Given the description of an element on the screen output the (x, y) to click on. 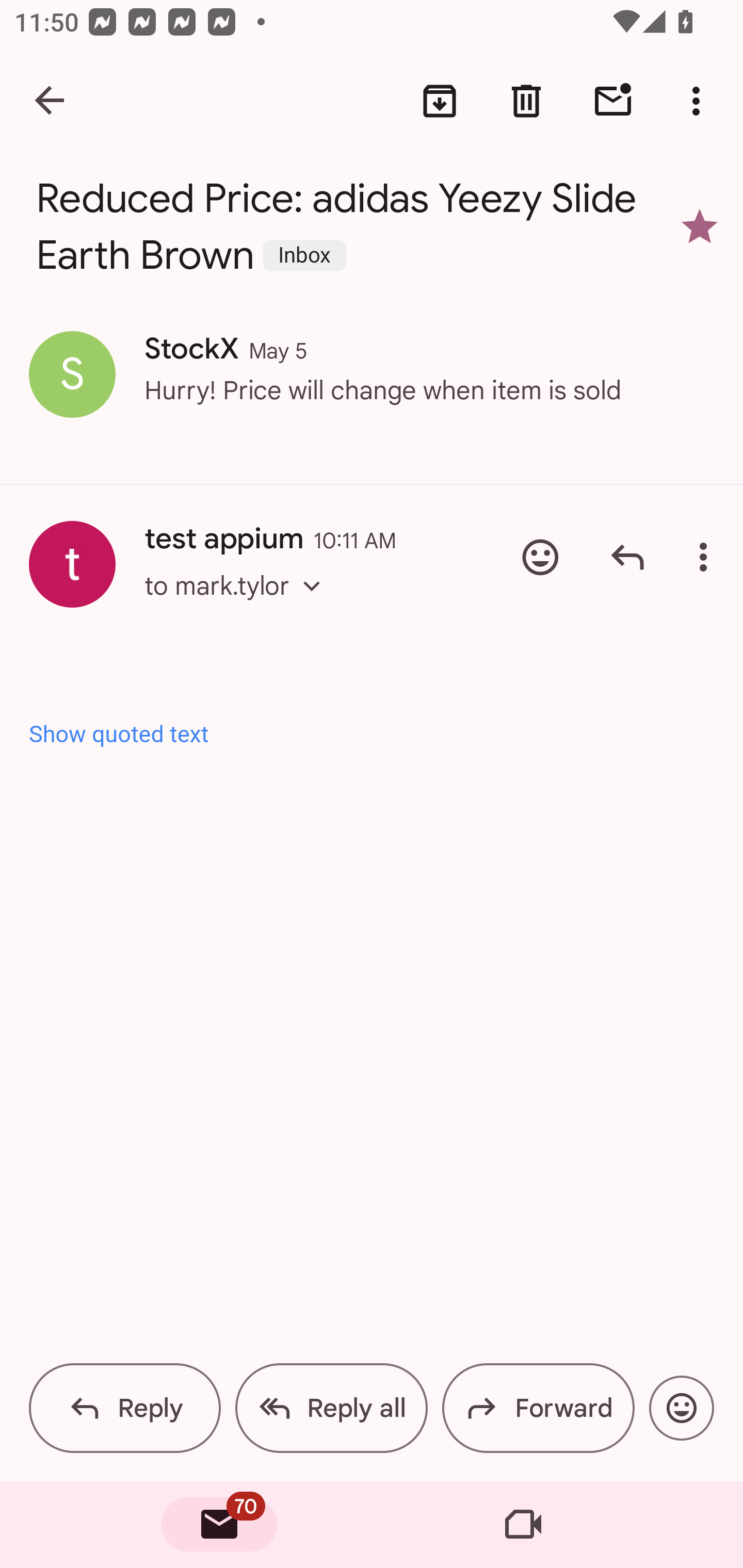
Navigate up (50, 101)
Archive (439, 101)
Delete (525, 101)
Mark unread (612, 101)
More options (699, 101)
Remove star (699, 226)
Show contact information for StockX (71, 373)
Add emoji reaction (540, 557)
Reply (626, 557)
More options (706, 557)
Show contact information for test appium (71, 564)
to mark.tylor (238, 604)
Reply (124, 1407)
Reply all (331, 1407)
Forward (538, 1407)
Add emoji reaction (681, 1407)
Meet (523, 1524)
